Given the description of an element on the screen output the (x, y) to click on. 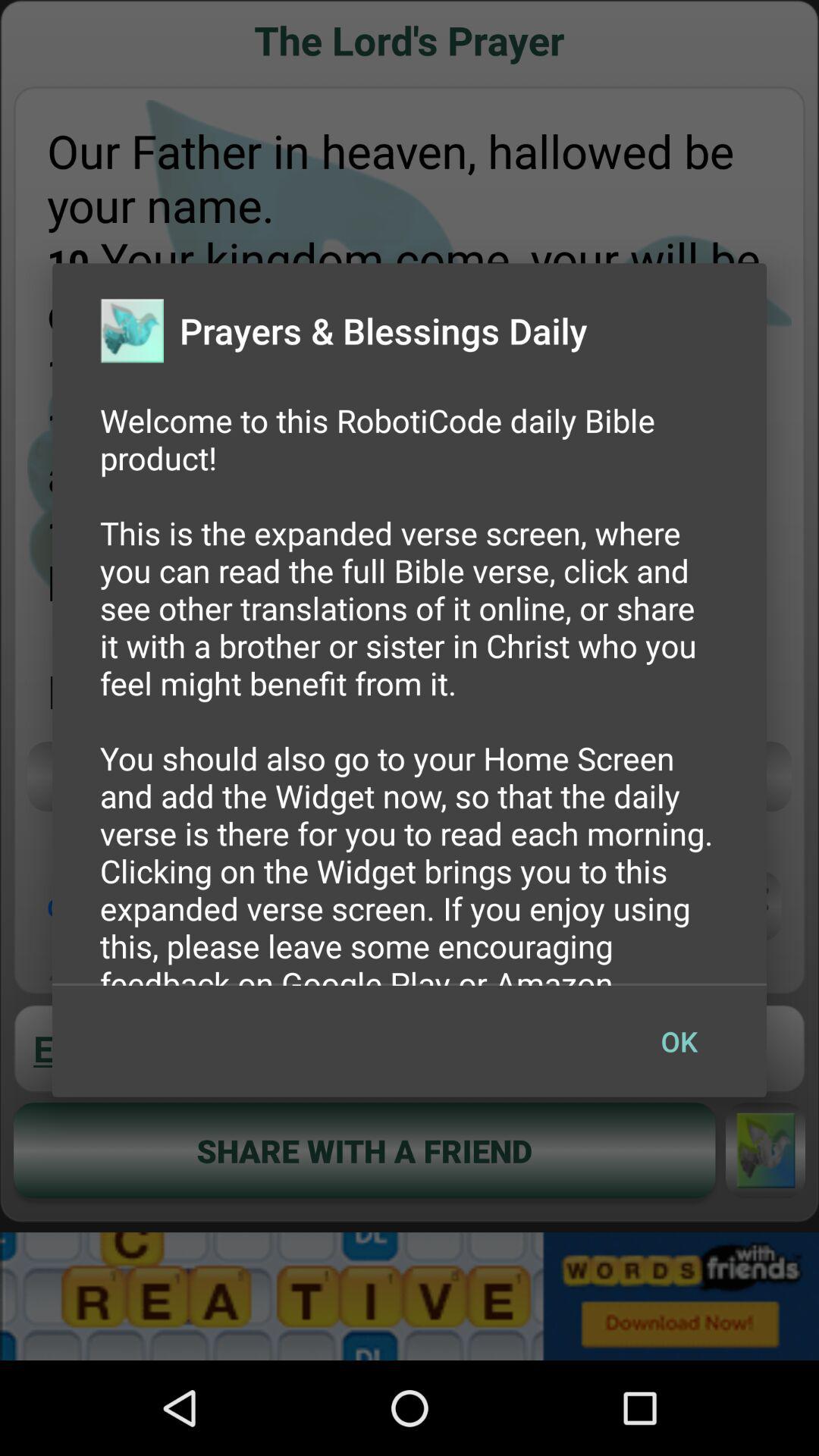
tap icon below the welcome to this icon (678, 1041)
